Given the description of an element on the screen output the (x, y) to click on. 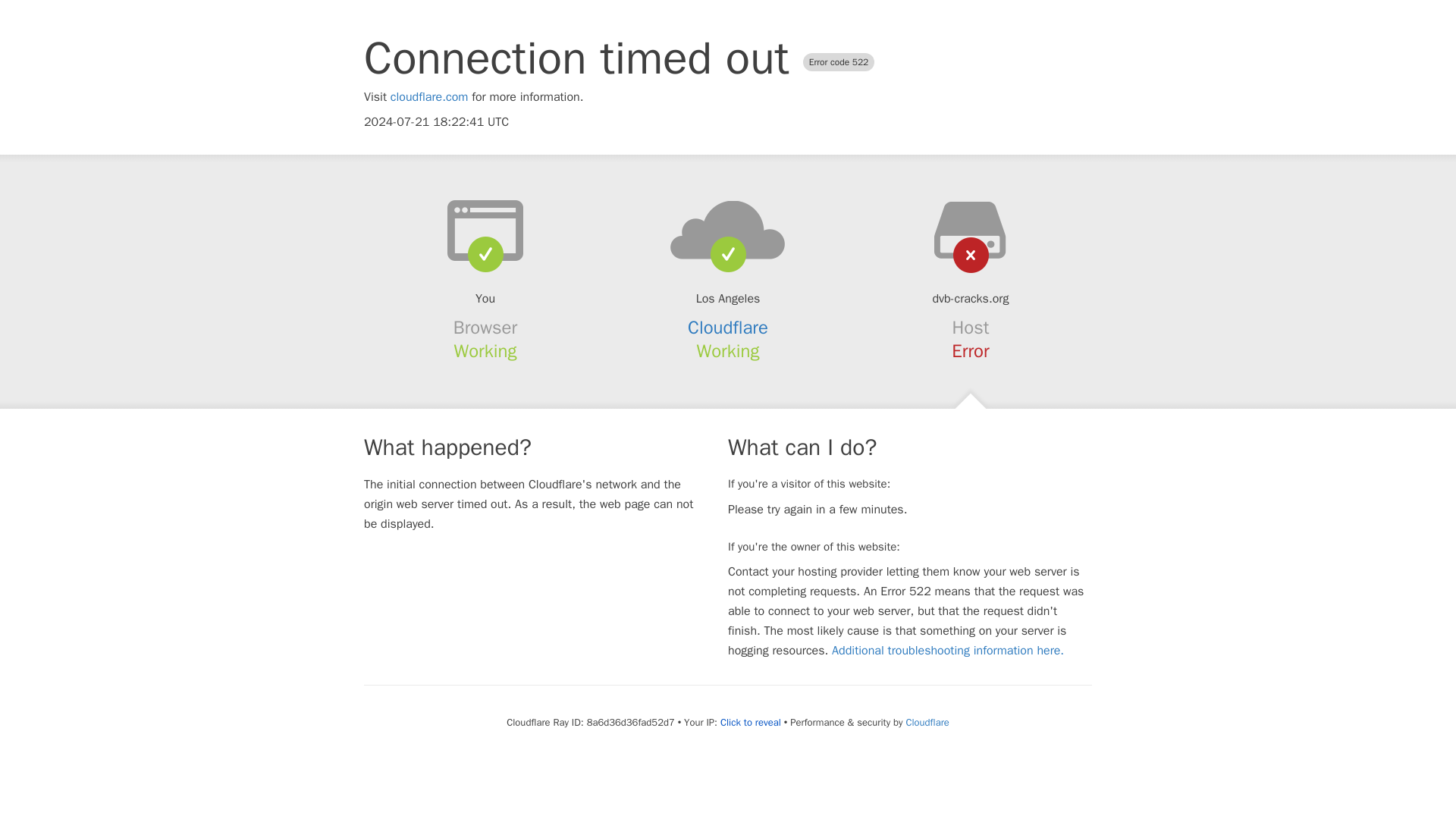
Cloudflare (927, 721)
Additional troubleshooting information here. (947, 650)
Click to reveal (750, 722)
cloudflare.com (429, 96)
Cloudflare (727, 327)
